Given the description of an element on the screen output the (x, y) to click on. 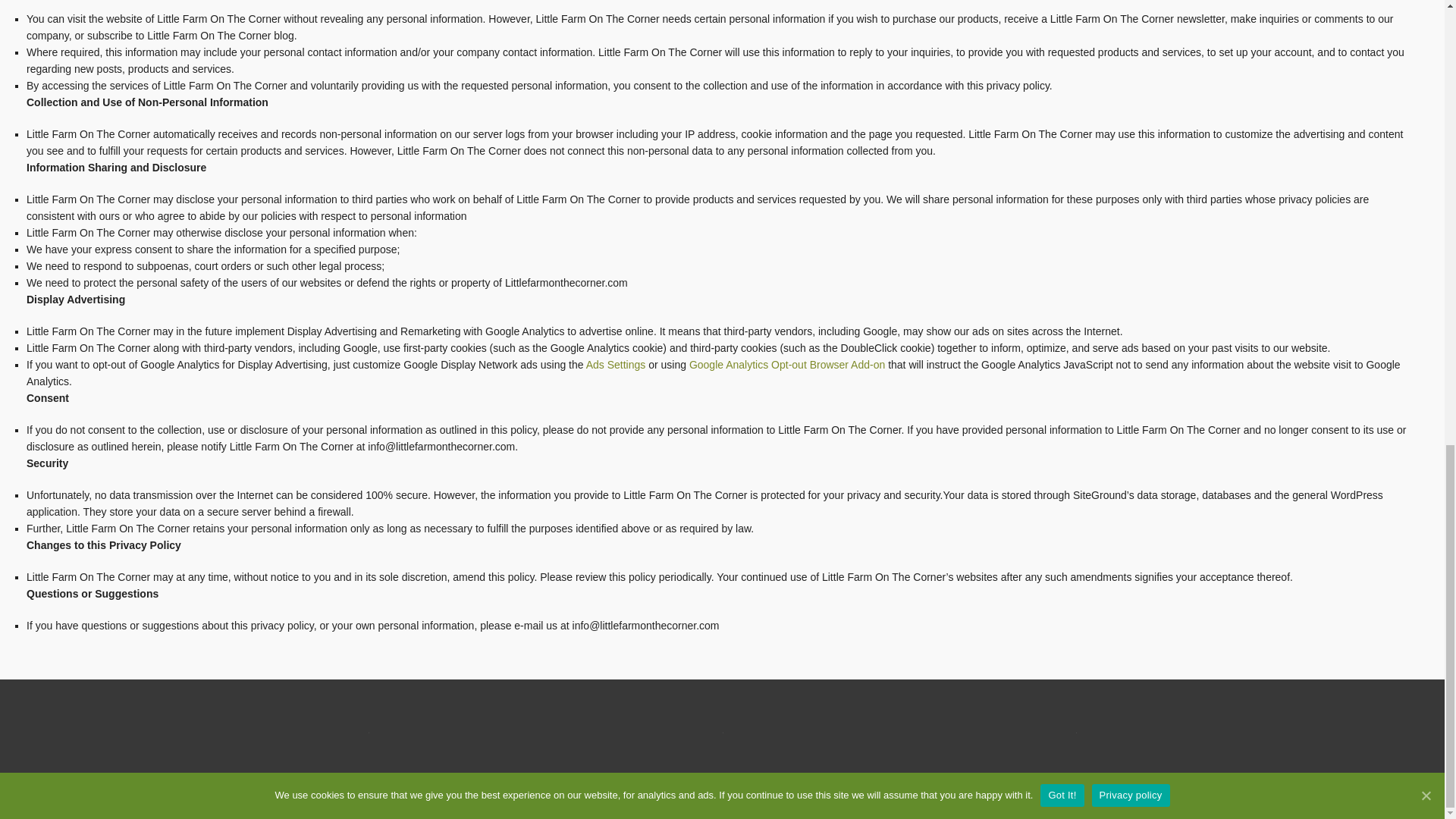
Google Analytics Opt-out Browser Add-on (786, 364)
Shop (1104, 803)
About (1069, 803)
Home (1032, 803)
Contact (1143, 803)
Ads Settings (616, 364)
Sitemap (1388, 803)
